Given the description of an element on the screen output the (x, y) to click on. 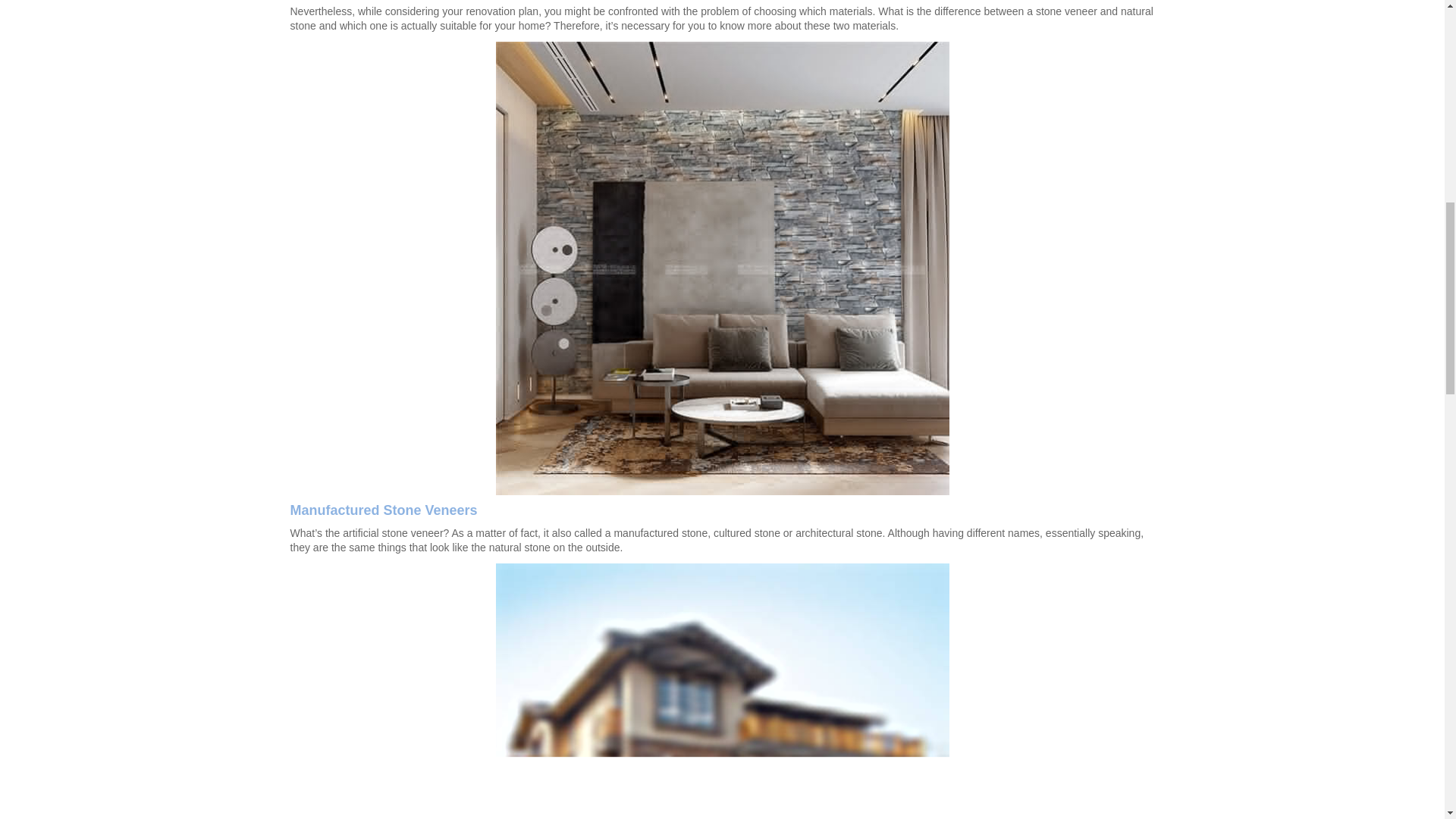
wholesale stone veneer for extiror wall (722, 690)
